Given the description of an element on the screen output the (x, y) to click on. 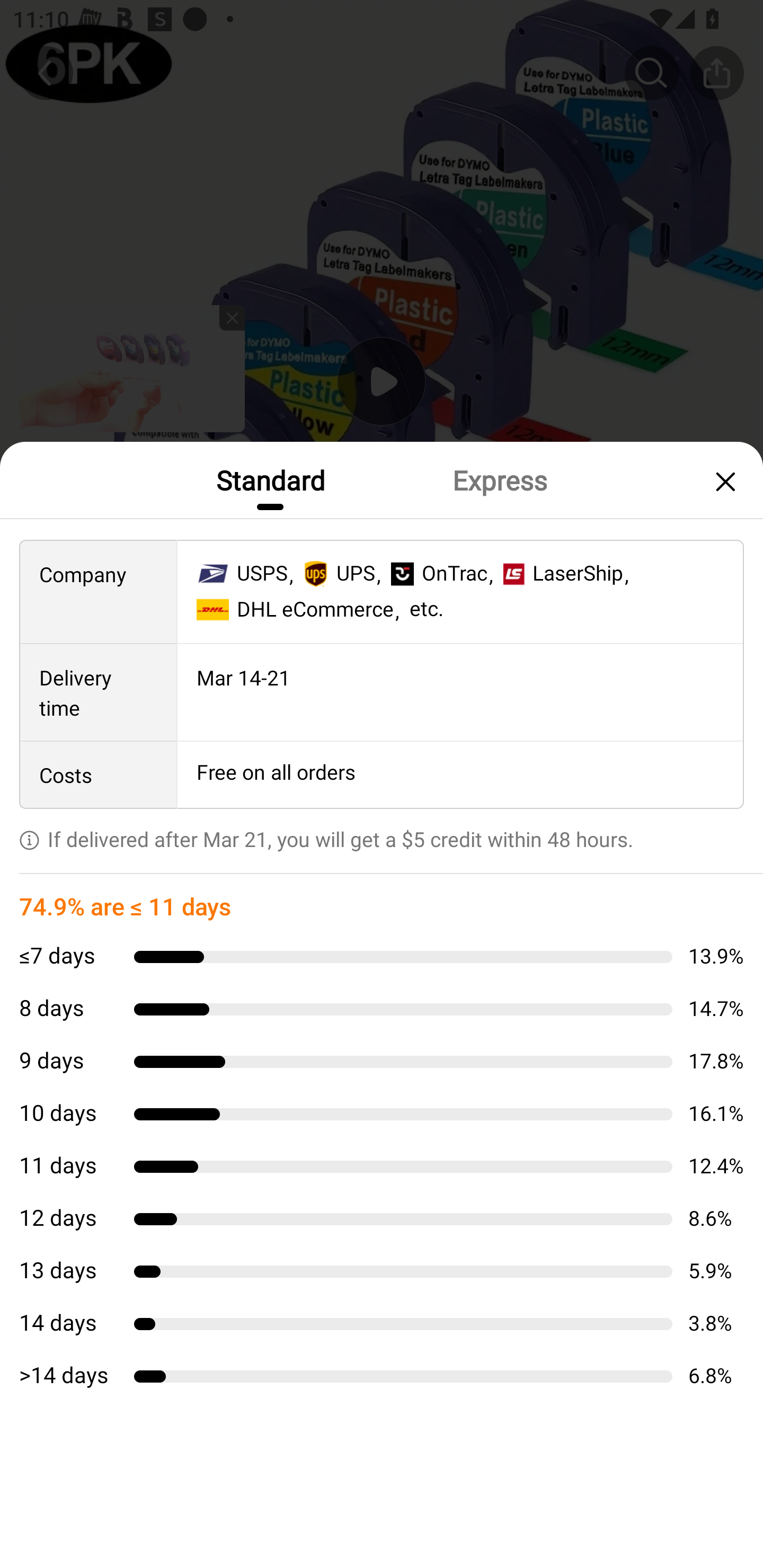
Standard (269, 479)
Express (499, 479)
close (723, 481)
Free shipping on all orders Exclusive offer (381, 836)
￼ ￼ ￼ 4 interest-free biweekly installments ￼ (381, 902)
